Given the description of an element on the screen output the (x, y) to click on. 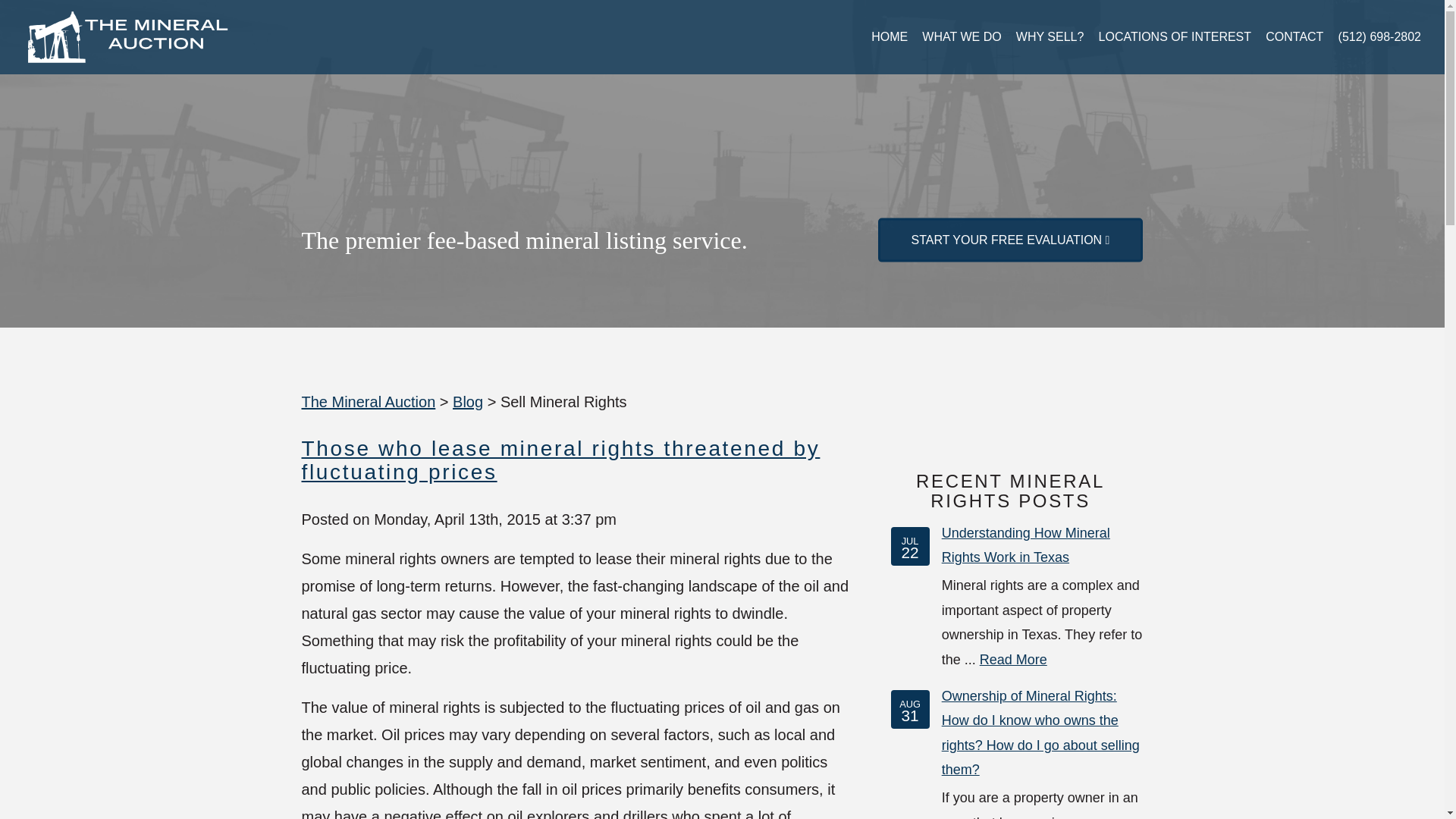
HOME (888, 37)
Understanding How Mineral Rights Work in Texas (1025, 545)
WHY SELL? (1050, 37)
Go to Blog. (467, 401)
Blog (467, 401)
CONTACT (1294, 37)
Go to The Mineral Auction. (368, 401)
START YOUR FREE EVALUATION (1009, 239)
LOCATIONS OF INTEREST (1175, 37)
The Mineral Auction (368, 401)
WHAT WE DO (961, 37)
Read More (1012, 659)
